Given the description of an element on the screen output the (x, y) to click on. 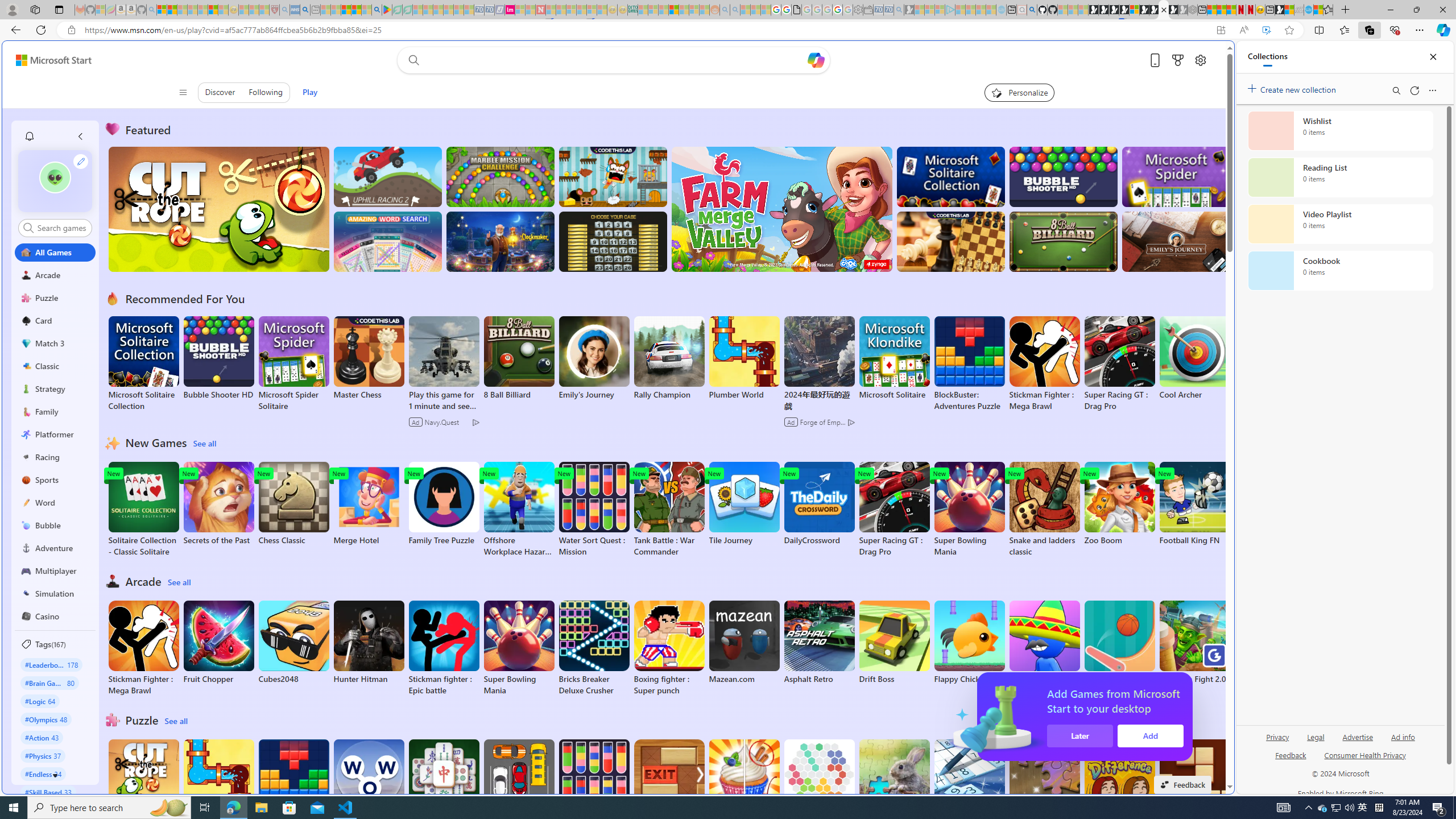
Pets - MSN (356, 9)
Secrets of the Past (218, 503)
Services - Maintenance | Sky Blue Bikes - Sky Blue Bikes (1307, 9)
""'s avatar (55, 177)
Family Tree Puzzle (443, 503)
Tabs you've opened (885, 151)
#Logic 64 (39, 700)
Stickman fighter : Epic battle (443, 648)
Asphalt Retro (818, 642)
Football King FN (1194, 503)
